Given the description of an element on the screen output the (x, y) to click on. 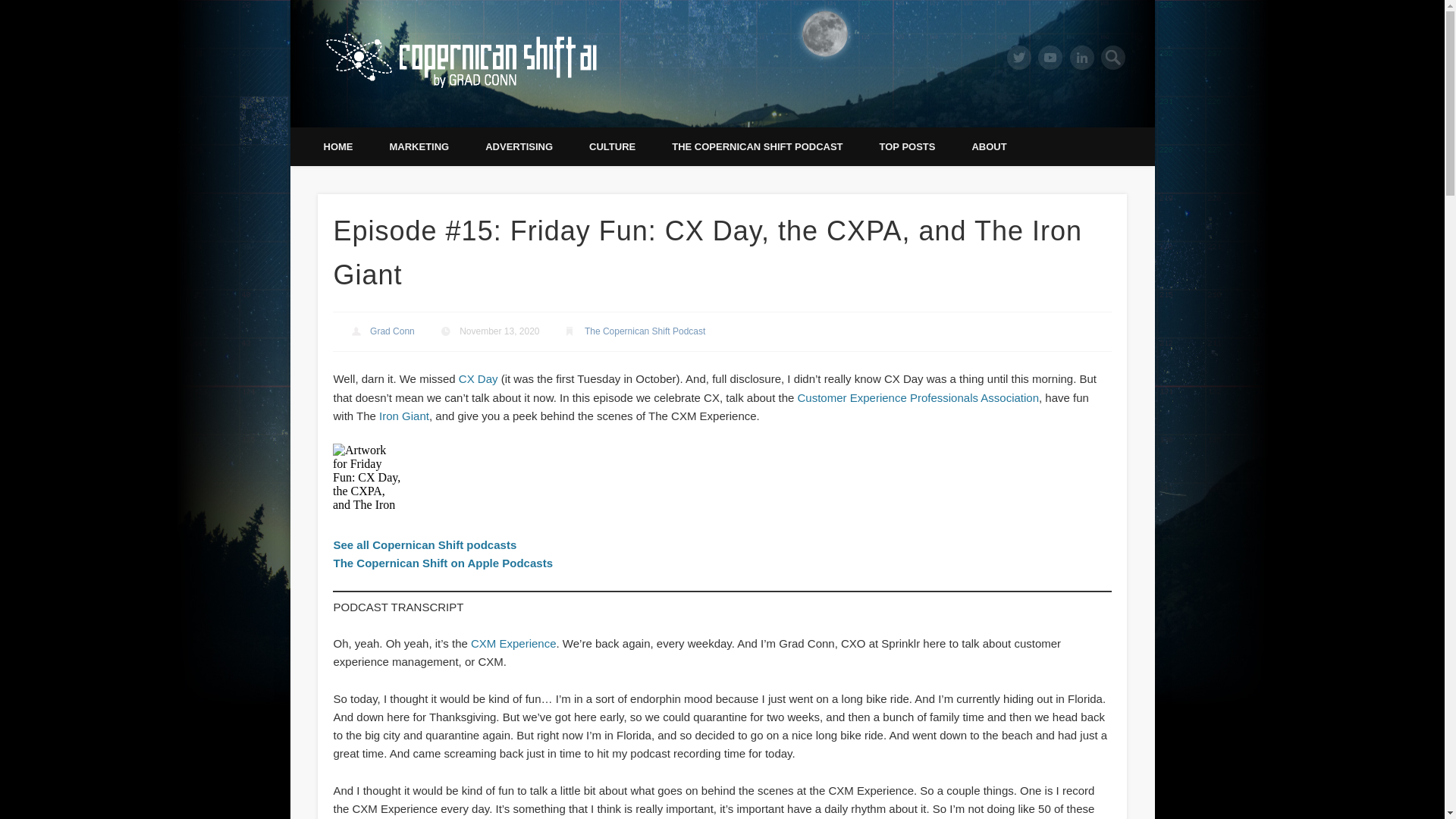
The Copernican Shift on Apple Podcasts (443, 562)
Customer Experience Professionals Association (918, 397)
Twitter (1018, 57)
Iron Giant (403, 415)
Posts by Grad Conn (391, 330)
CXM Experience (513, 643)
LinkedIn (1082, 57)
ABOUT (989, 146)
HOME (337, 146)
MARKETING (419, 146)
